Given the description of an element on the screen output the (x, y) to click on. 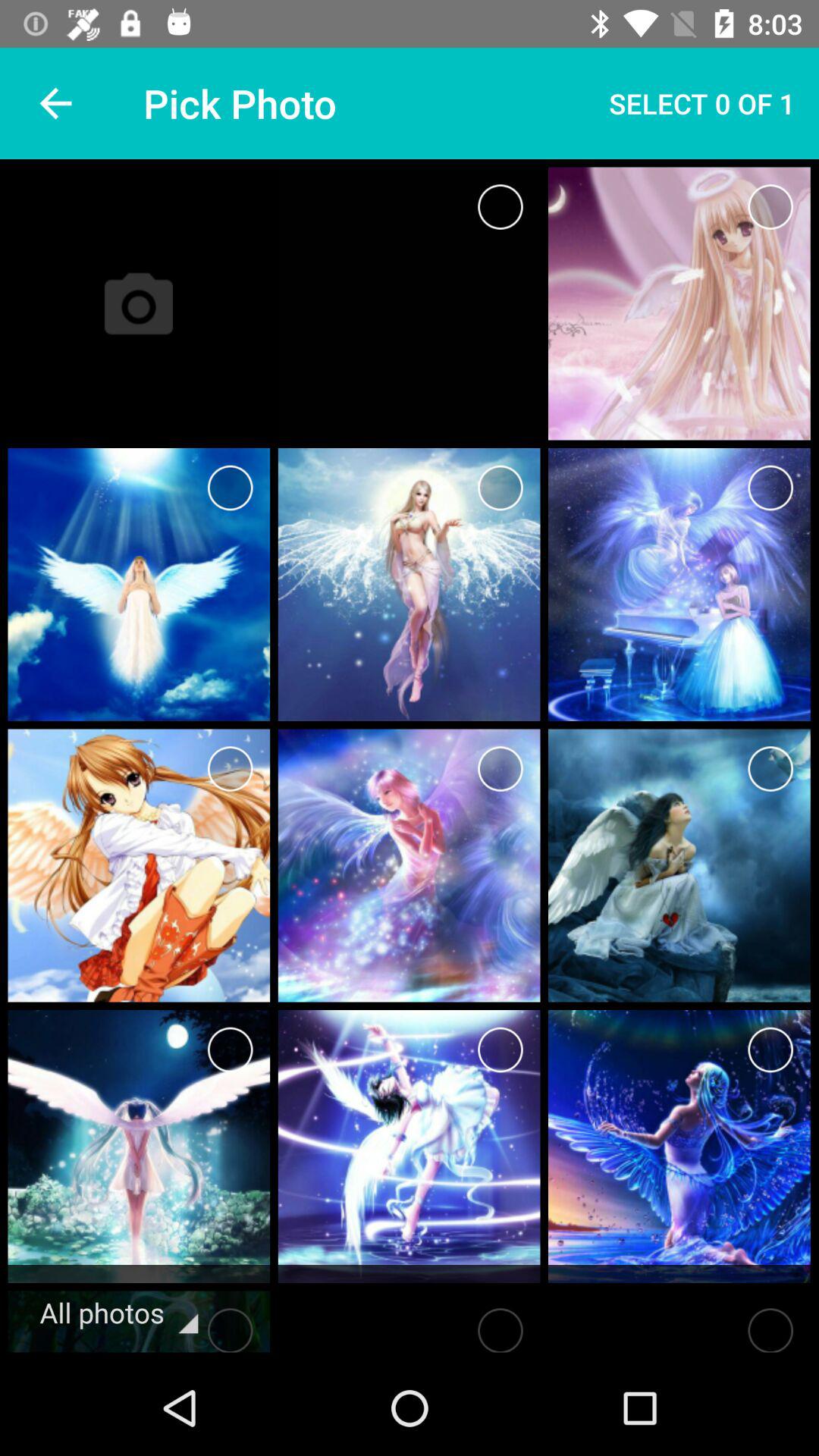
click item next to the pick photo icon (702, 103)
